Given the description of an element on the screen output the (x, y) to click on. 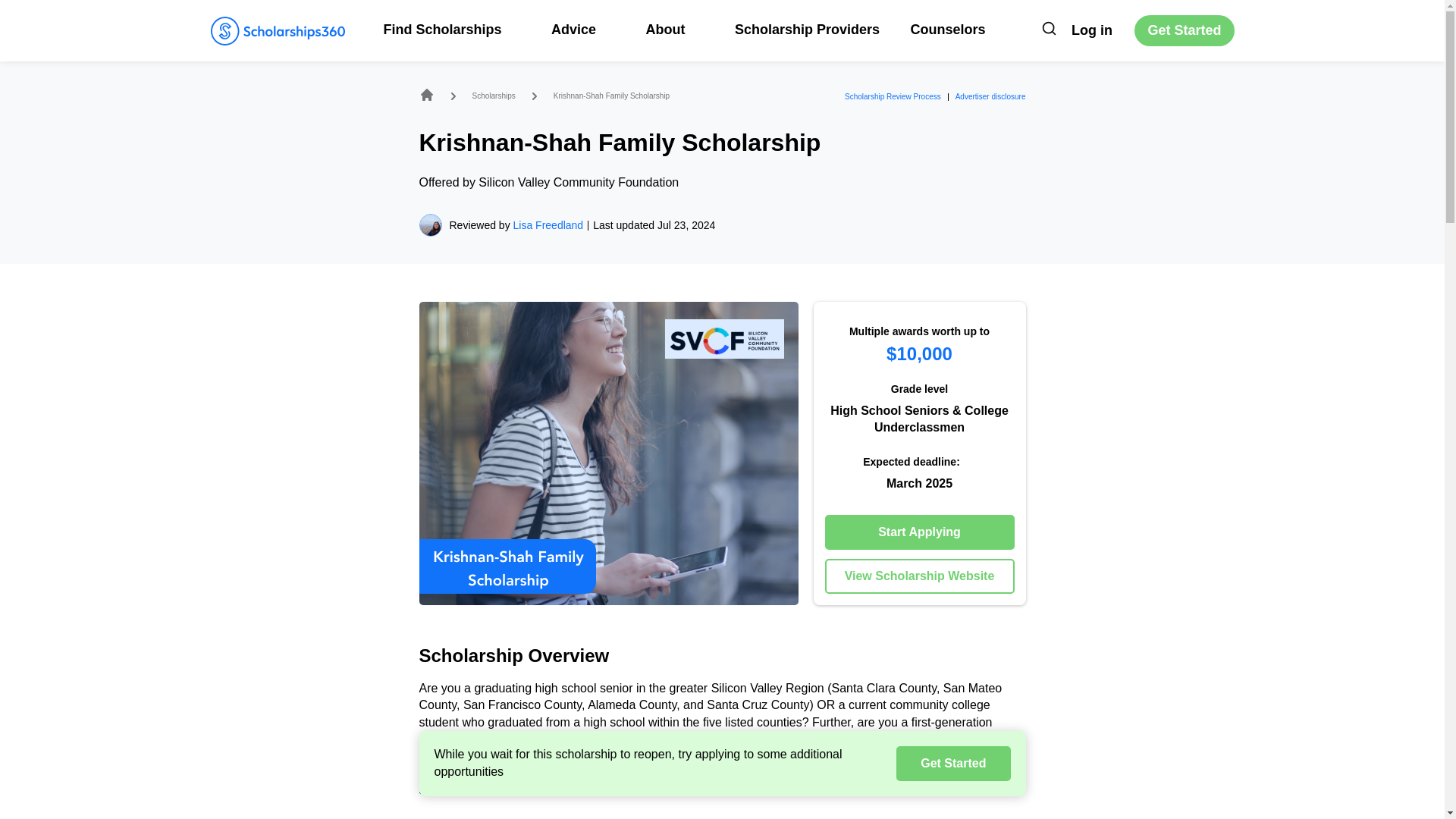
About (674, 29)
Find Scholarships (452, 29)
Scholarship Providers (807, 29)
Log in (1091, 30)
Advice (582, 29)
Get Started (1183, 30)
Counselors (947, 29)
